Given the description of an element on the screen output the (x, y) to click on. 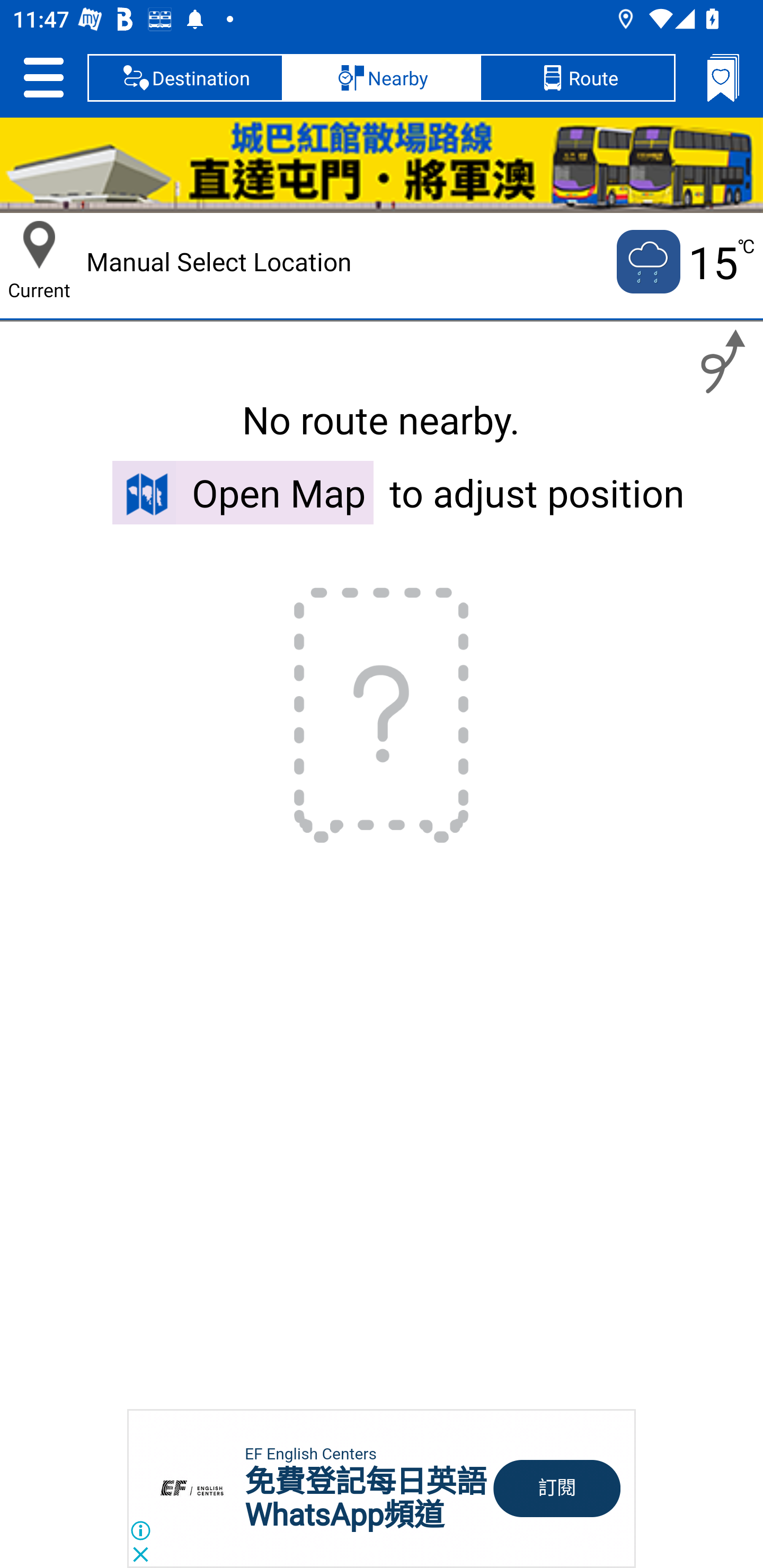
Destination (185, 77)
Nearby, selected (381, 77)
Route (577, 77)
Bookmarks (723, 77)
Setting (43, 77)
HKC (381, 165)
Current Location (38, 244)
Current temputure is  15  no 15 ℃ (684, 261)
Open Map (242, 491)
EF English Centers (310, 1454)
訂閱 (556, 1488)
免費登記每日英語 WhatsApp頻道 免費登記每日英語 WhatsApp頻道 (365, 1497)
